Given the description of an element on the screen output the (x, y) to click on. 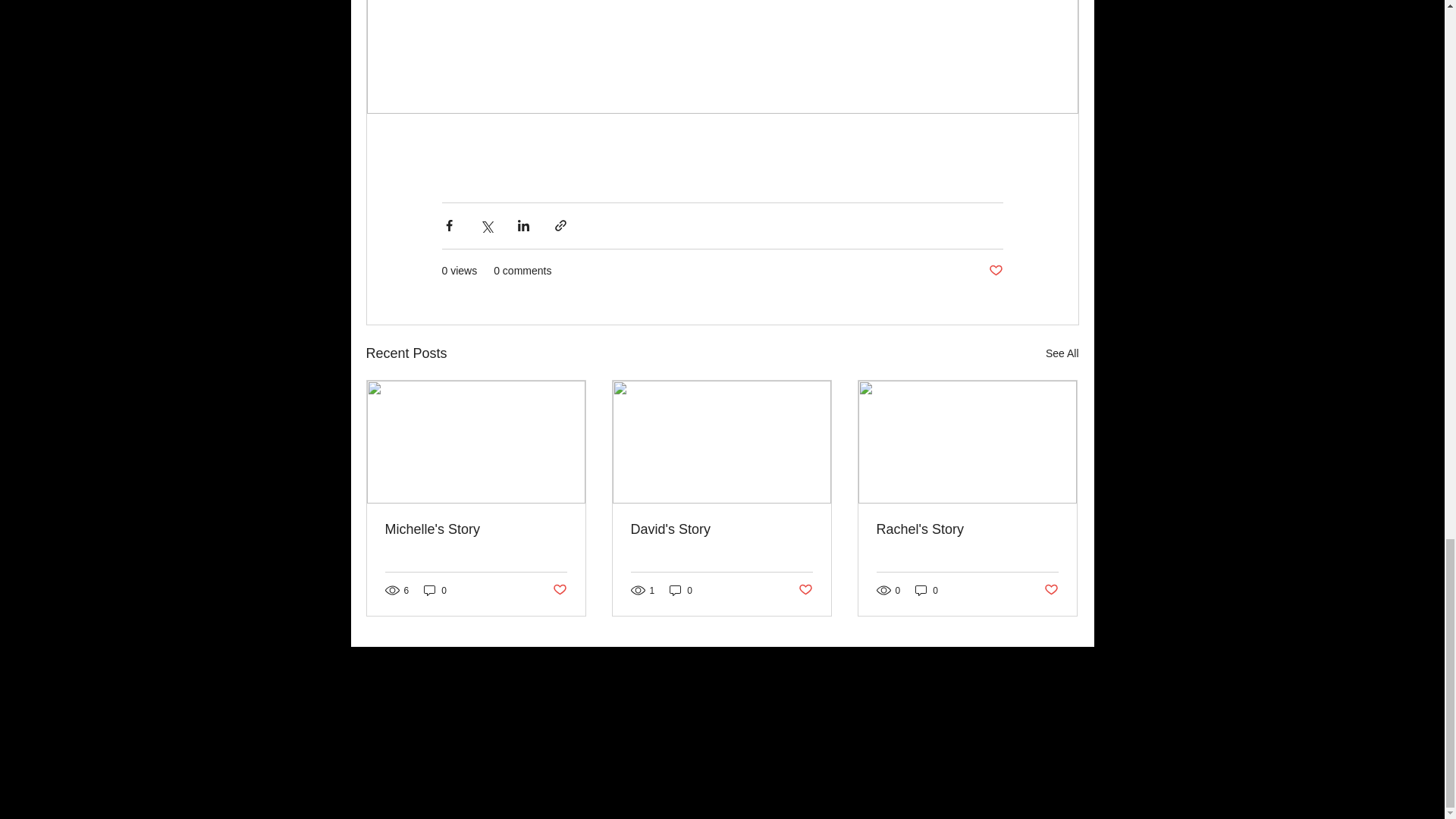
Post not marked as liked (558, 590)
0 (926, 590)
Post not marked as liked (995, 270)
Post not marked as liked (1050, 590)
Michelle's Story (476, 529)
David's Story (721, 529)
Rachel's Story (967, 529)
0 (435, 590)
Post not marked as liked (804, 590)
See All (1061, 353)
